Given the description of an element on the screen output the (x, y) to click on. 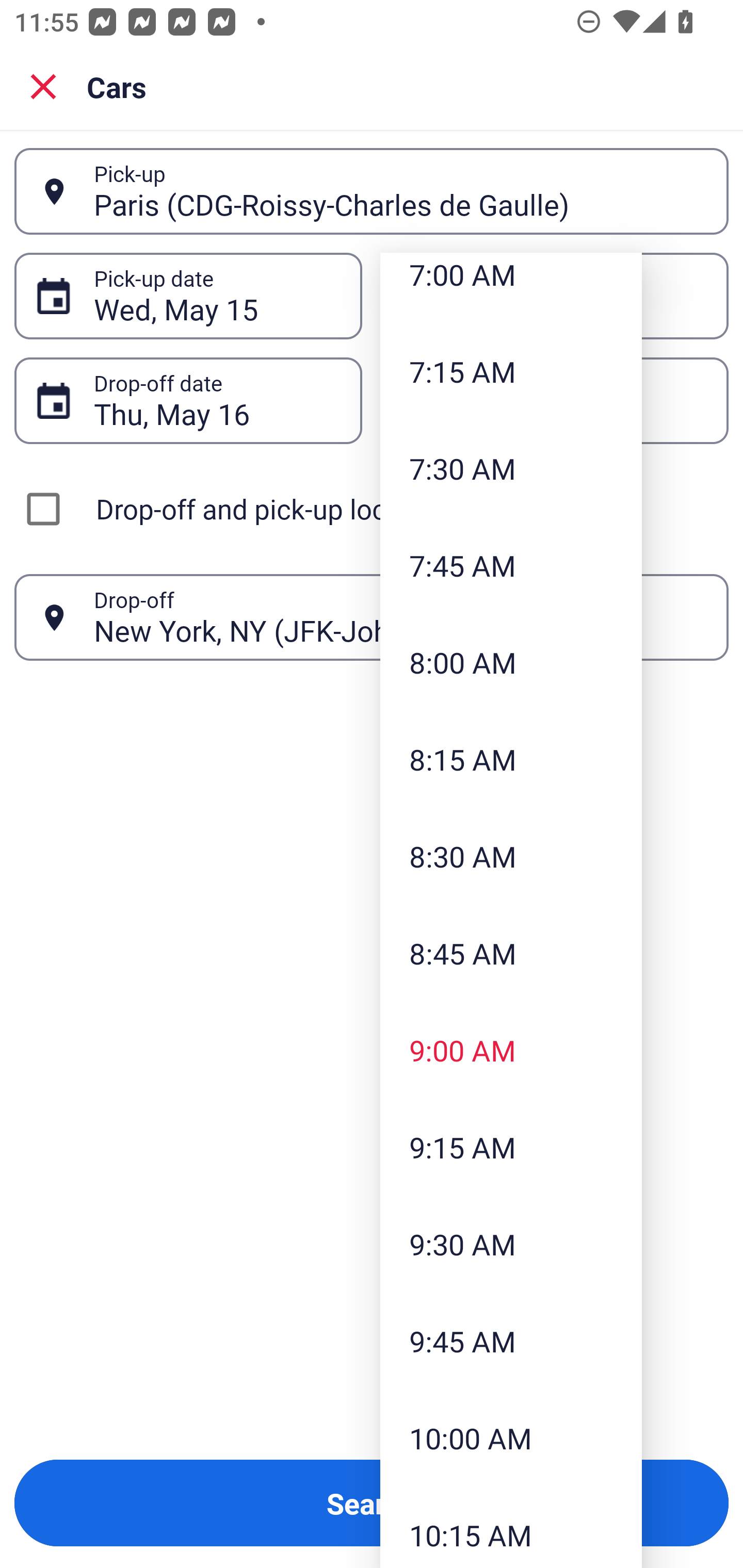
7:00 AM (510, 287)
7:15 AM (510, 371)
7:30 AM (510, 468)
7:45 AM (510, 565)
8:00 AM (510, 661)
8:15 AM (510, 758)
8:30 AM (510, 855)
8:45 AM (510, 952)
9:00 AM (510, 1050)
9:15 AM (510, 1146)
9:30 AM (510, 1243)
9:45 AM (510, 1340)
10:00 AM (510, 1437)
10:15 AM (510, 1527)
